Given the description of an element on the screen output the (x, y) to click on. 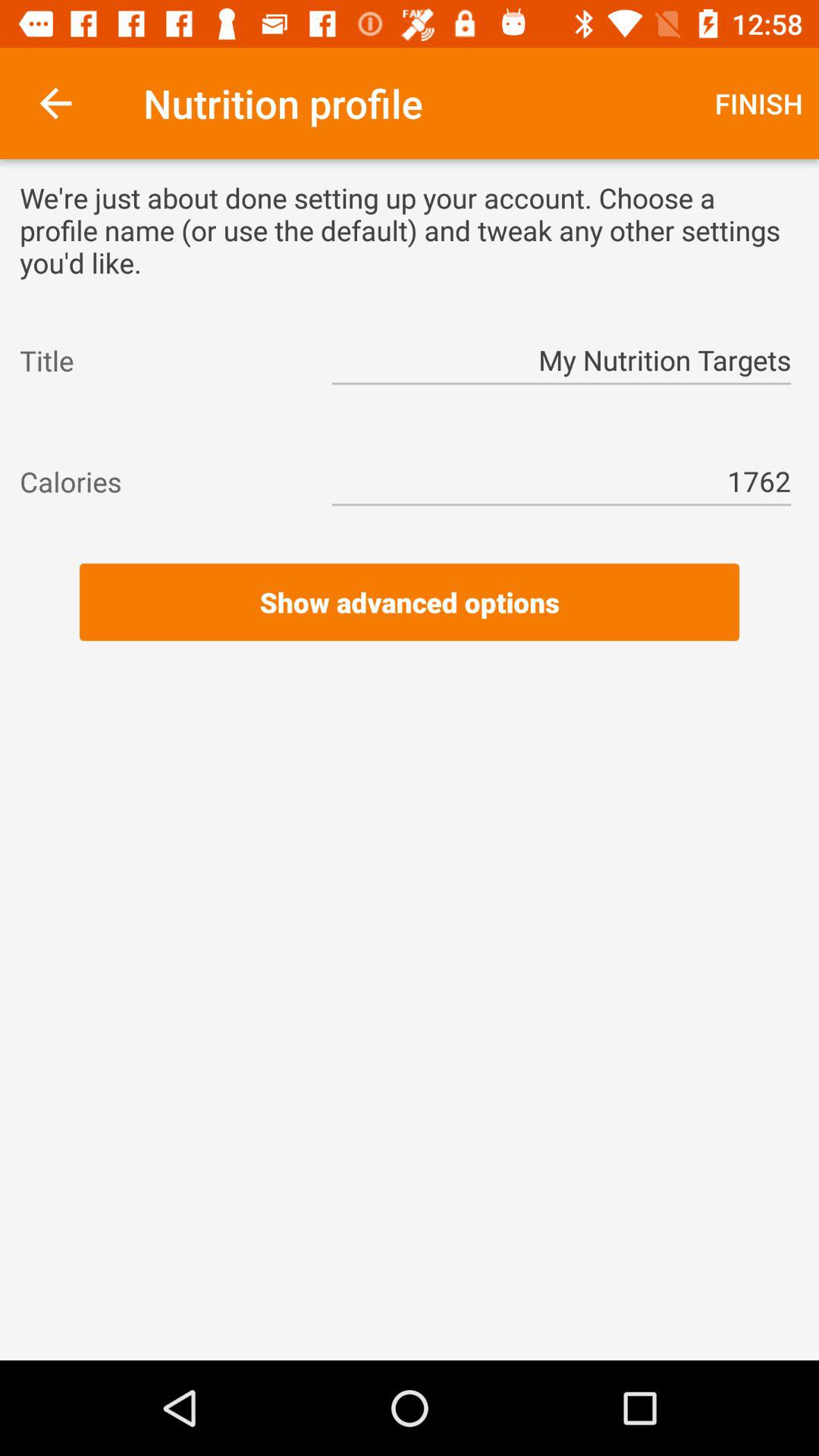
swipe to the show advanced options icon (409, 601)
